Given the description of an element on the screen output the (x, y) to click on. 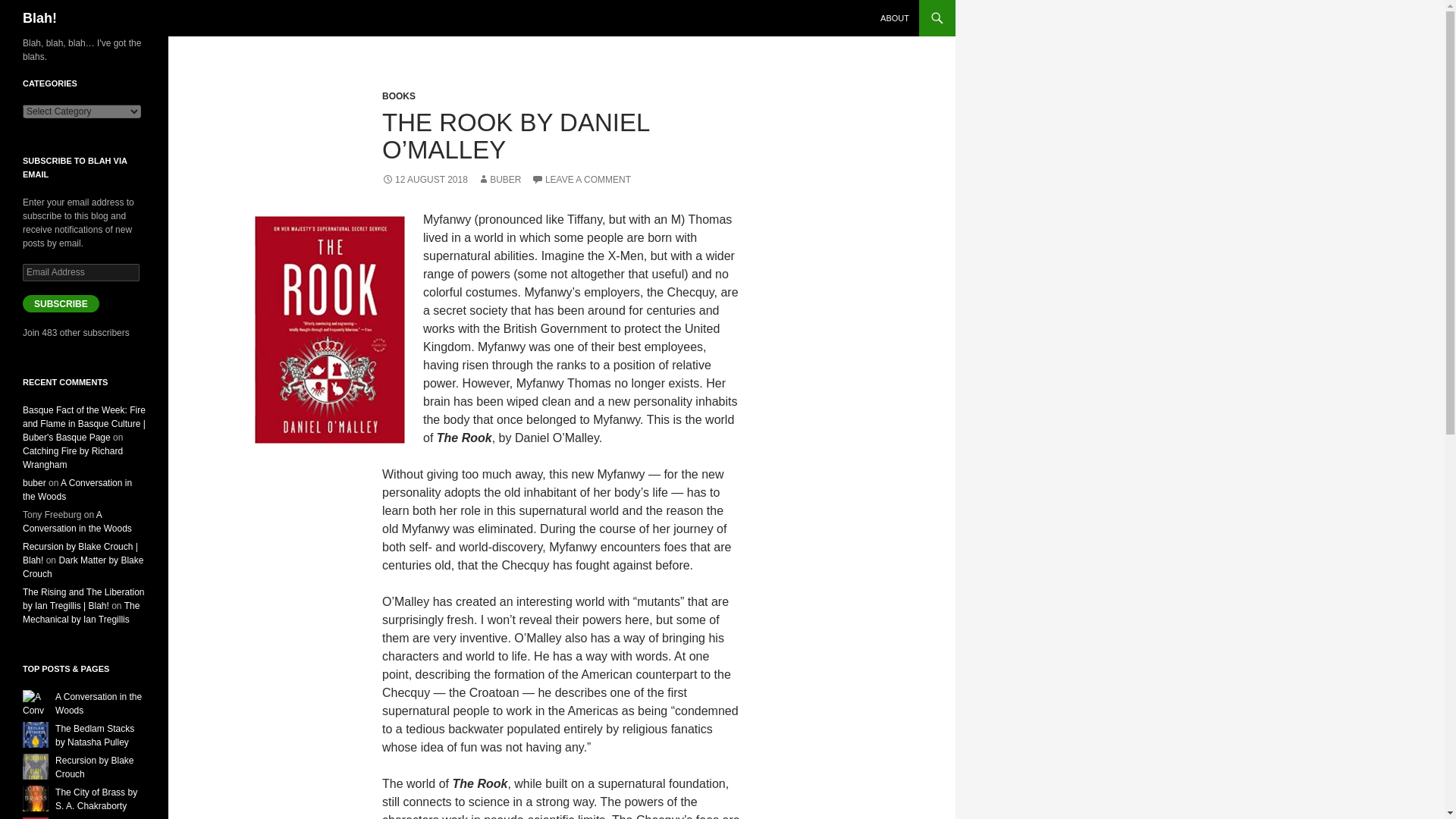
The Bedlam Stacks by Natasha Pulley (94, 735)
A Conversation in the Woods (98, 703)
A Conversation in the Woods (98, 703)
Recursion by Blake Crouch (94, 767)
The City of Brass by S. A. Chakraborty (95, 799)
Recursion by Blake Crouch (94, 767)
Catching Fire by Richard Wrangham (72, 457)
A Conversation in the Woods (77, 521)
SUBSCRIBE (61, 303)
The Mechanical by Ian Tregillis (81, 612)
buber (34, 482)
12 AUGUST 2018 (424, 179)
BOOKS (397, 95)
Dark Matter by Blake Crouch (82, 567)
LEAVE A COMMENT (580, 179)
